Given the description of an element on the screen output the (x, y) to click on. 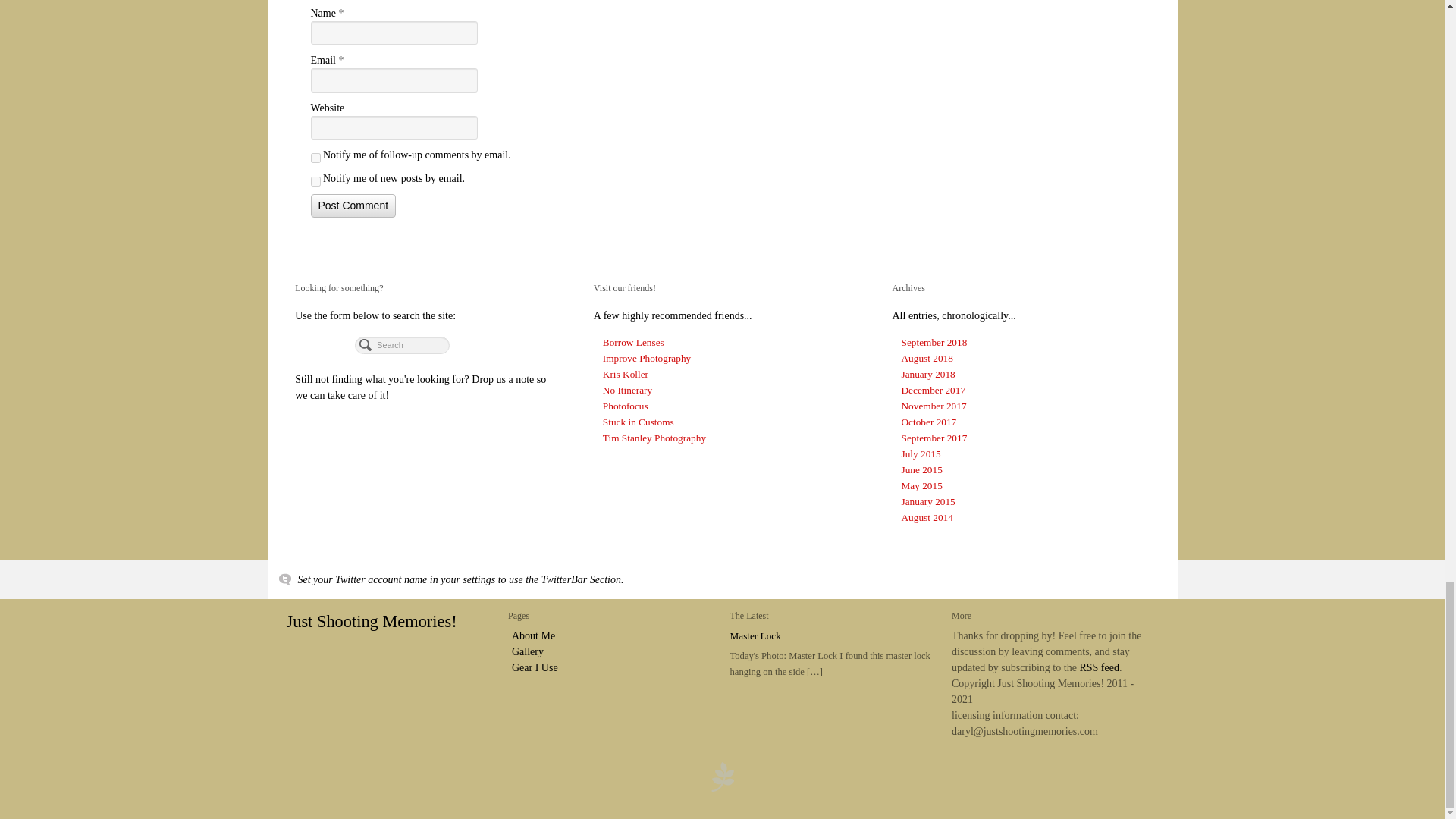
subscribe (315, 157)
No Itinerary (627, 389)
Photofocus (624, 405)
Camera Gear Rental (632, 342)
September 2018 (933, 342)
Post Comment (353, 205)
Kris Koller (624, 374)
subscribe (315, 181)
Improve Photography (646, 357)
Post Comment (353, 205)
Tim Stanley Photography (654, 437)
Borrow Lenses (632, 342)
Stuck in Customs (638, 421)
